Given the description of an element on the screen output the (x, y) to click on. 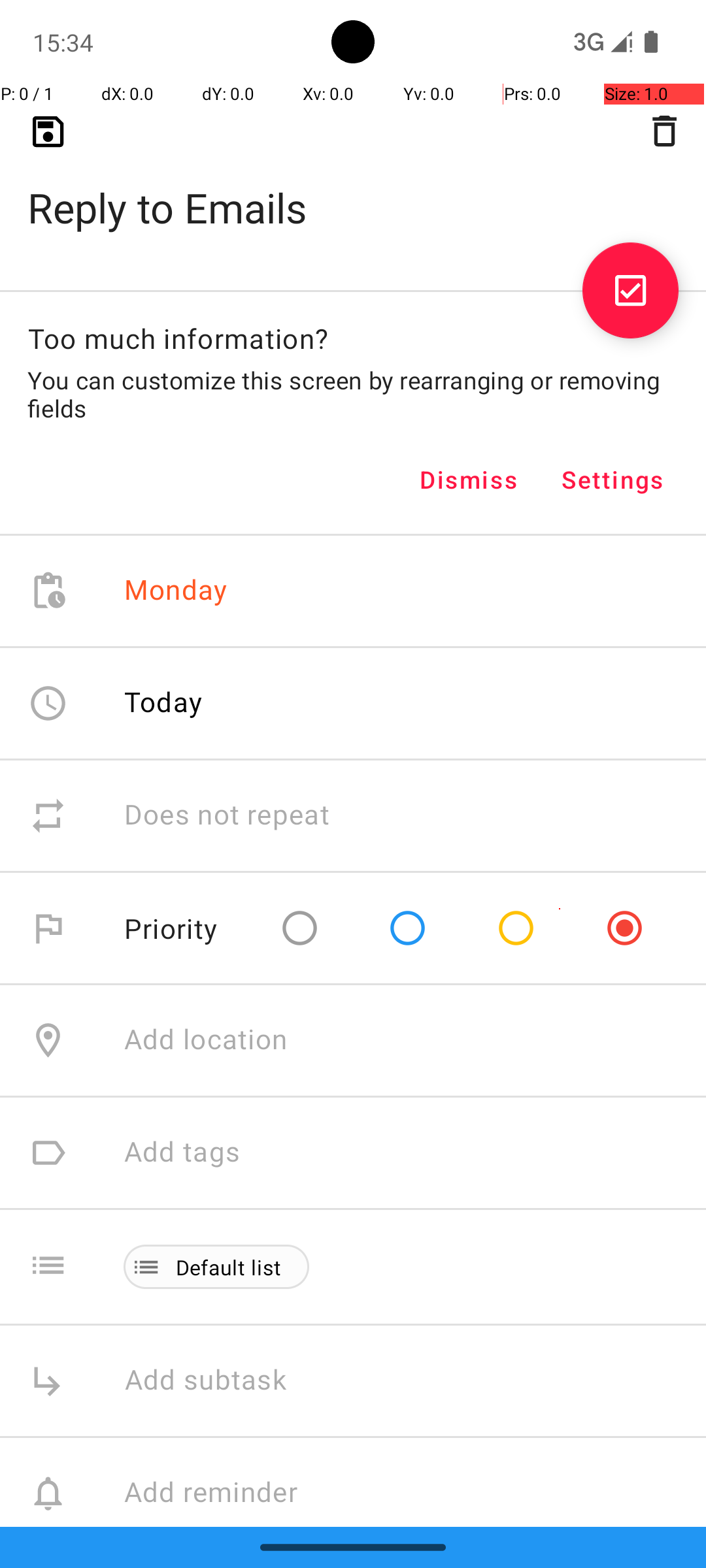
Reply to Emails Element type: android.widget.EditText (353, 186)
Add reminder Element type: android.widget.TextView (224, 1493)
